Given the description of an element on the screen output the (x, y) to click on. 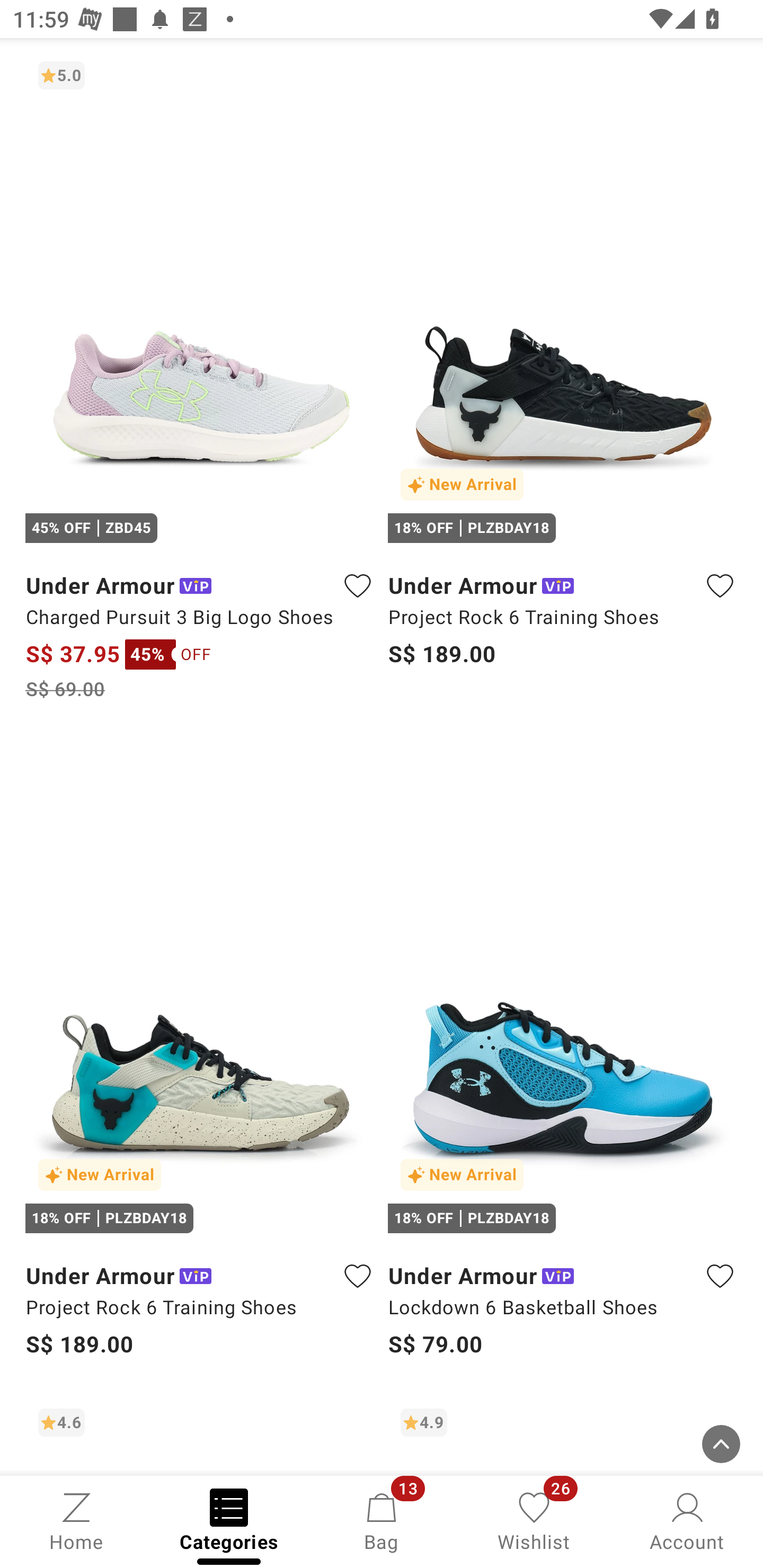
Home (76, 1519)
Bag, 13 new notifications Bag (381, 1519)
Wishlist, 26 new notifications Wishlist (533, 1519)
Account (686, 1519)
